Given the description of an element on the screen output the (x, y) to click on. 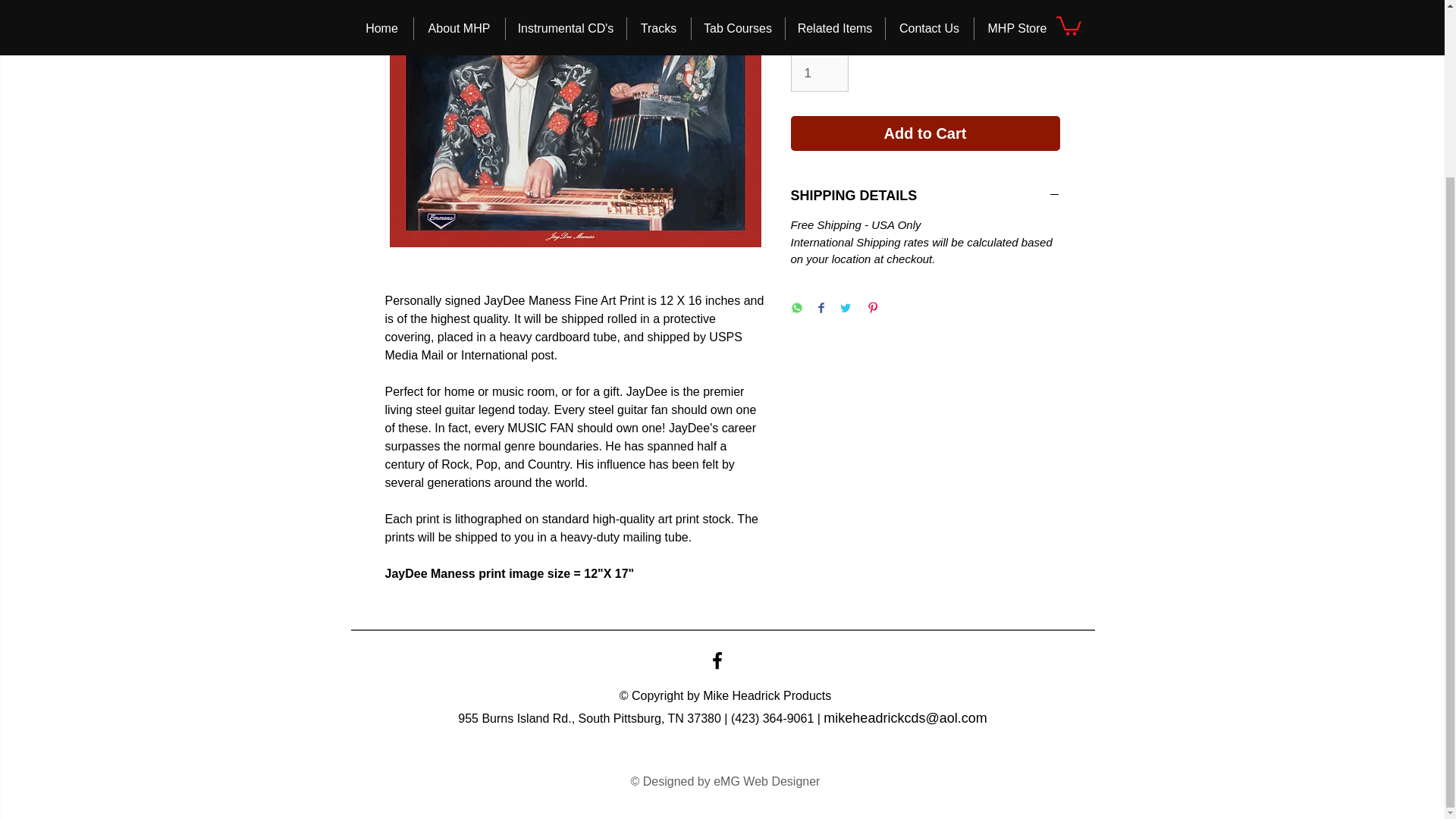
SHIPPING DETAILS (924, 195)
1 (818, 72)
Products (807, 695)
Headrick (756, 695)
Add to Cart (924, 133)
